Given the description of an element on the screen output the (x, y) to click on. 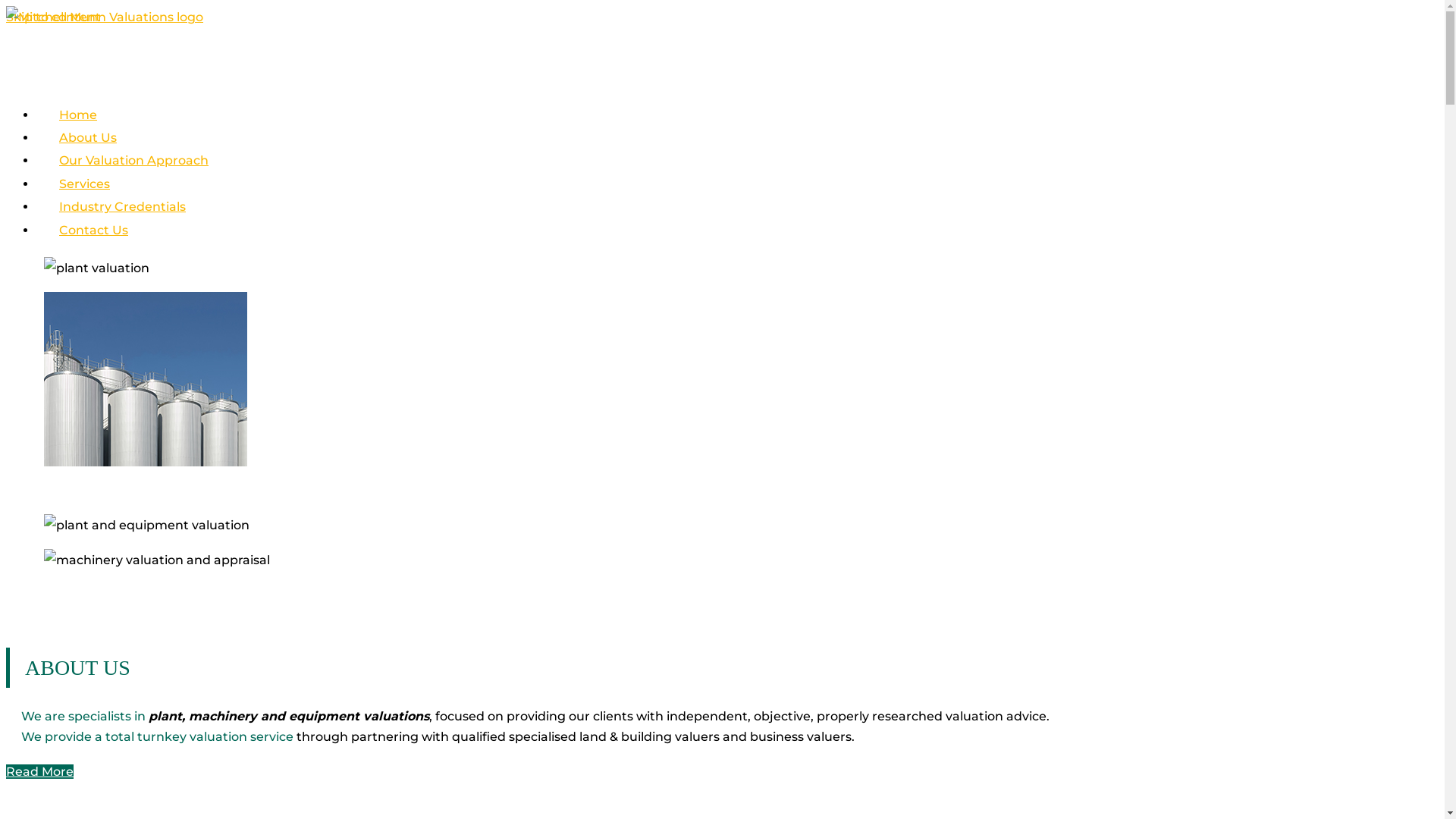
slide 2-min Element type: hover (156, 560)
Contact Us Element type: text (93, 241)
Our Valuation Approach Element type: text (133, 171)
nicholasmunn@mitchellmunn.com.au Element type: text (125, 40)
About Us Element type: text (87, 148)
Home Element type: text (77, 125)
Industry Credentials Element type: text (122, 217)
0418 342 630 Element type: text (128, 63)
03 98646501 Element type: text (44, 63)
Read More Element type: text (39, 771)
Mitchell Munn Element type: hover (104, 16)
Skip to content Element type: text (53, 16)
Services Element type: text (84, 194)
